Given the description of an element on the screen output the (x, y) to click on. 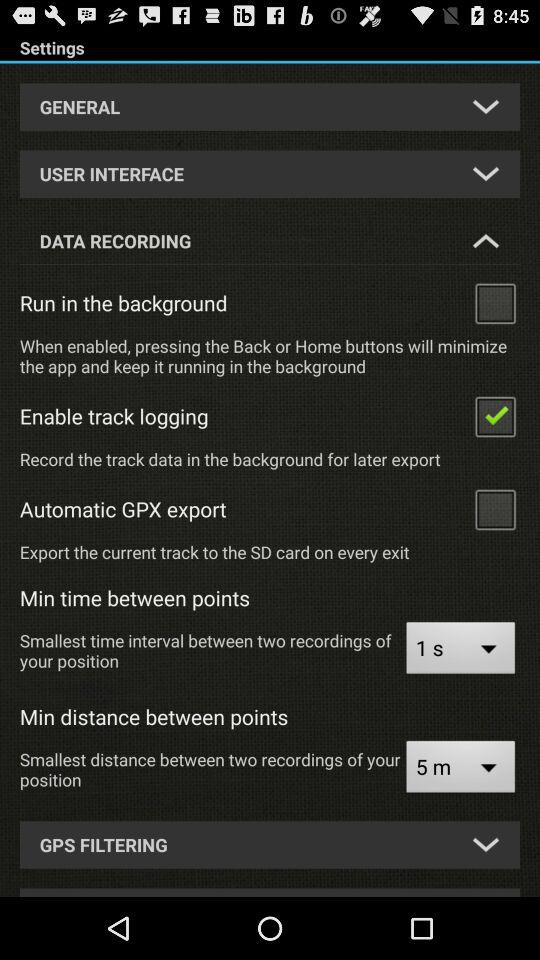
click run in the background (495, 302)
